Given the description of an element on the screen output the (x, y) to click on. 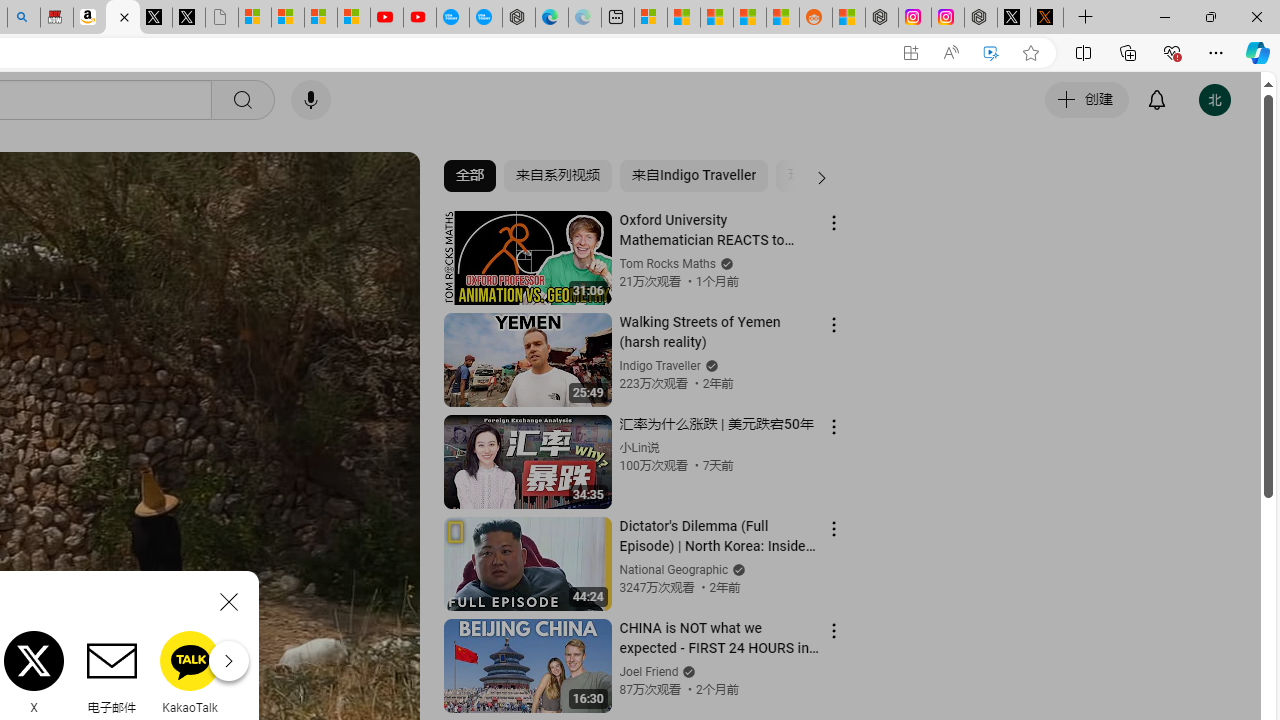
Nordace (@NordaceOfficial) / X (1014, 17)
